Given the description of an element on the screen output the (x, y) to click on. 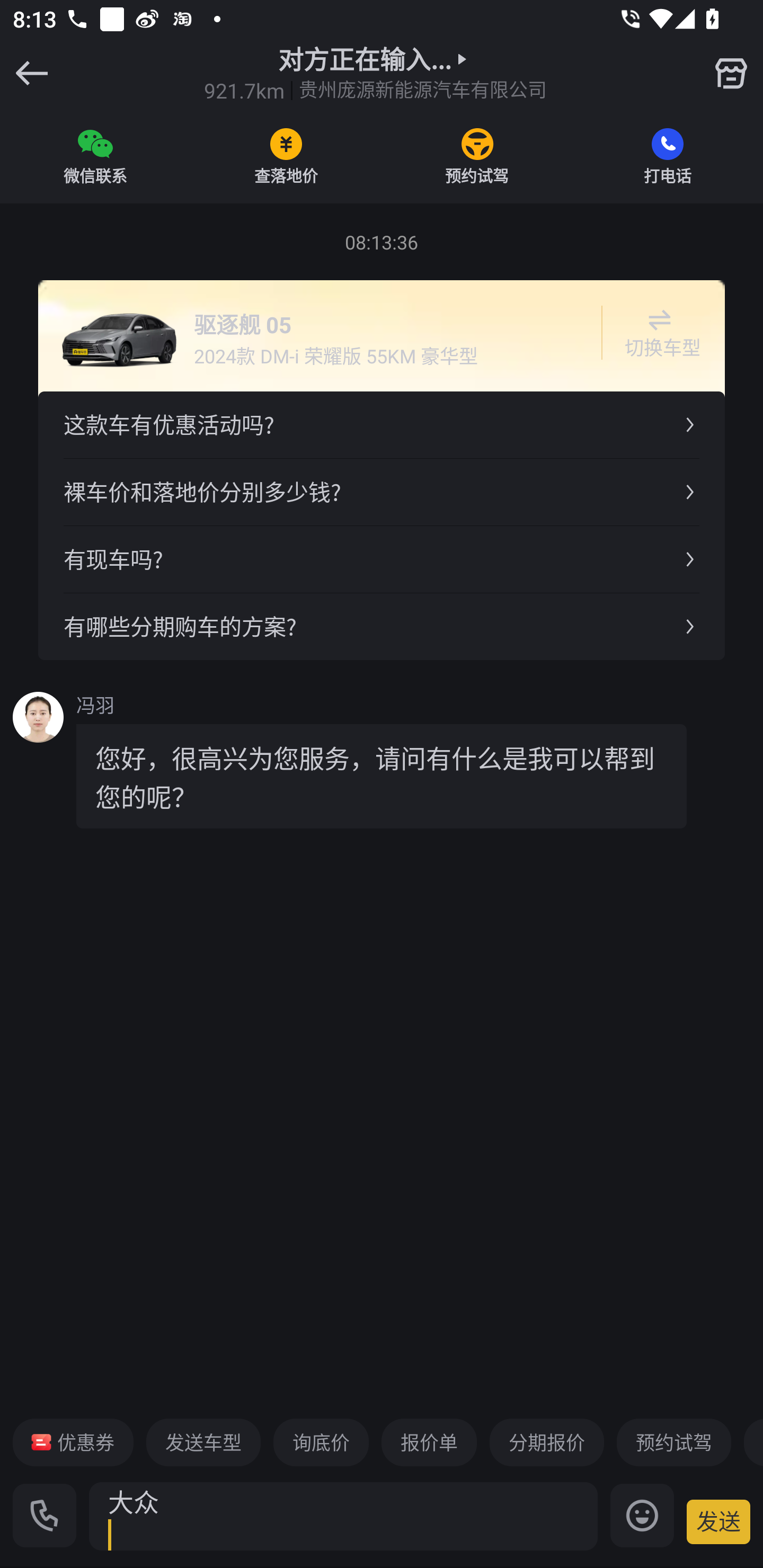
对方正在输入... 921.7km 贵州庞源新能源汽车有限公司 (374, 73)
 (730, 73)
微信联系 (95, 155)
查落地价 (285, 155)
预约试驾 (476, 155)
打电话 (667, 155)
切换车型 (659, 332)
这款车有优惠活动吗? (381, 424)
裸车价和落地价分别多少钱? (381, 492)
有现车吗? (381, 558)
有哪些分期购车的方案? (381, 626)
您好，很高兴为您服务，请问有什么是我可以帮到您的呢？ (381, 775)
优惠券 (72, 1442)
发送车型 (203, 1442)
询底价 (320, 1442)
报价单 (428, 1442)
分期报价 (546, 1442)
预约试驾 (673, 1442)
大众
 (343, 1515)
发送 (718, 1521)
